Given the description of an element on the screen output the (x, y) to click on. 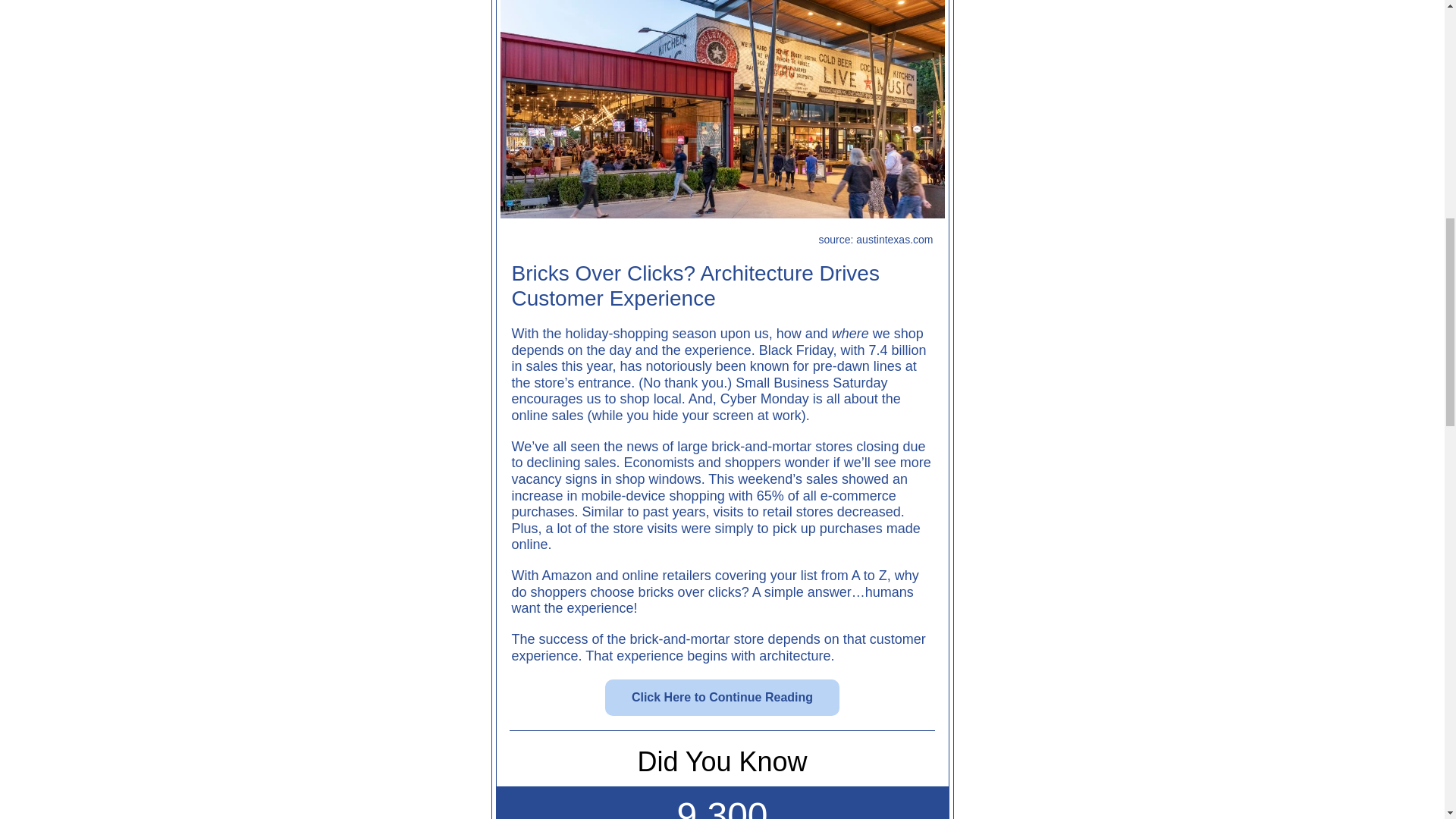
Click Here to Continue Reading (721, 697)
